Given the description of an element on the screen output the (x, y) to click on. 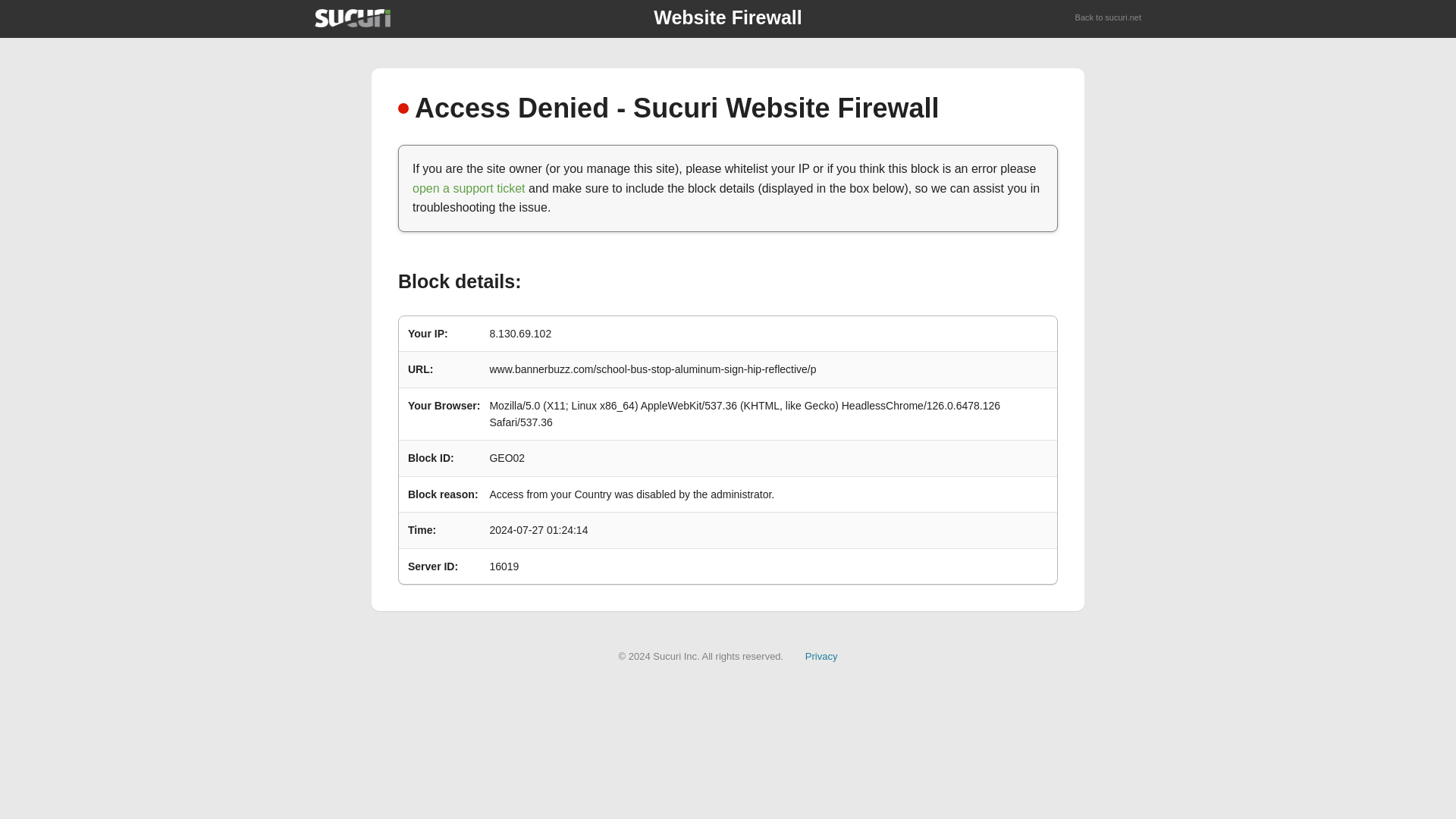
Back to sucuri.net (1108, 18)
Privacy (821, 655)
open a support ticket (468, 187)
